Given the description of an element on the screen output the (x, y) to click on. 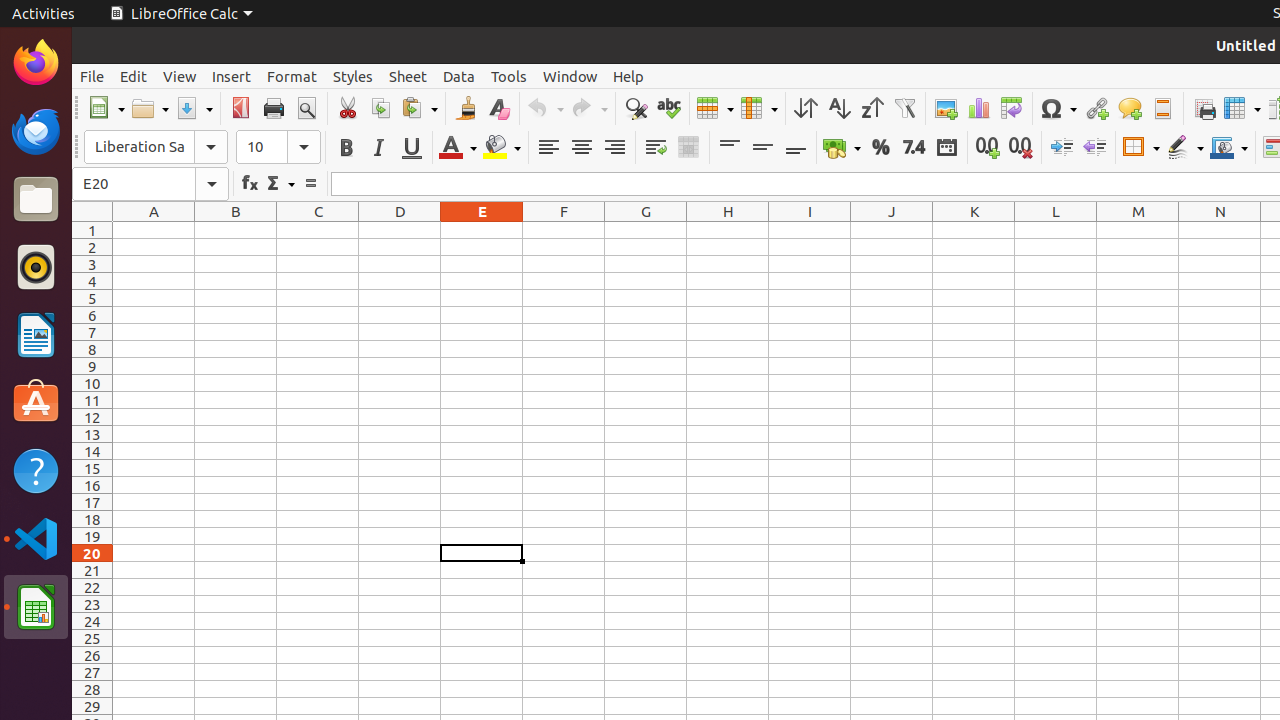
LibreOffice Calc Element type: menu (181, 13)
Comment Element type: push-button (1129, 108)
Format Element type: menu (292, 76)
Thunderbird Mail Element type: push-button (36, 131)
